Given the description of an element on the screen output the (x, y) to click on. 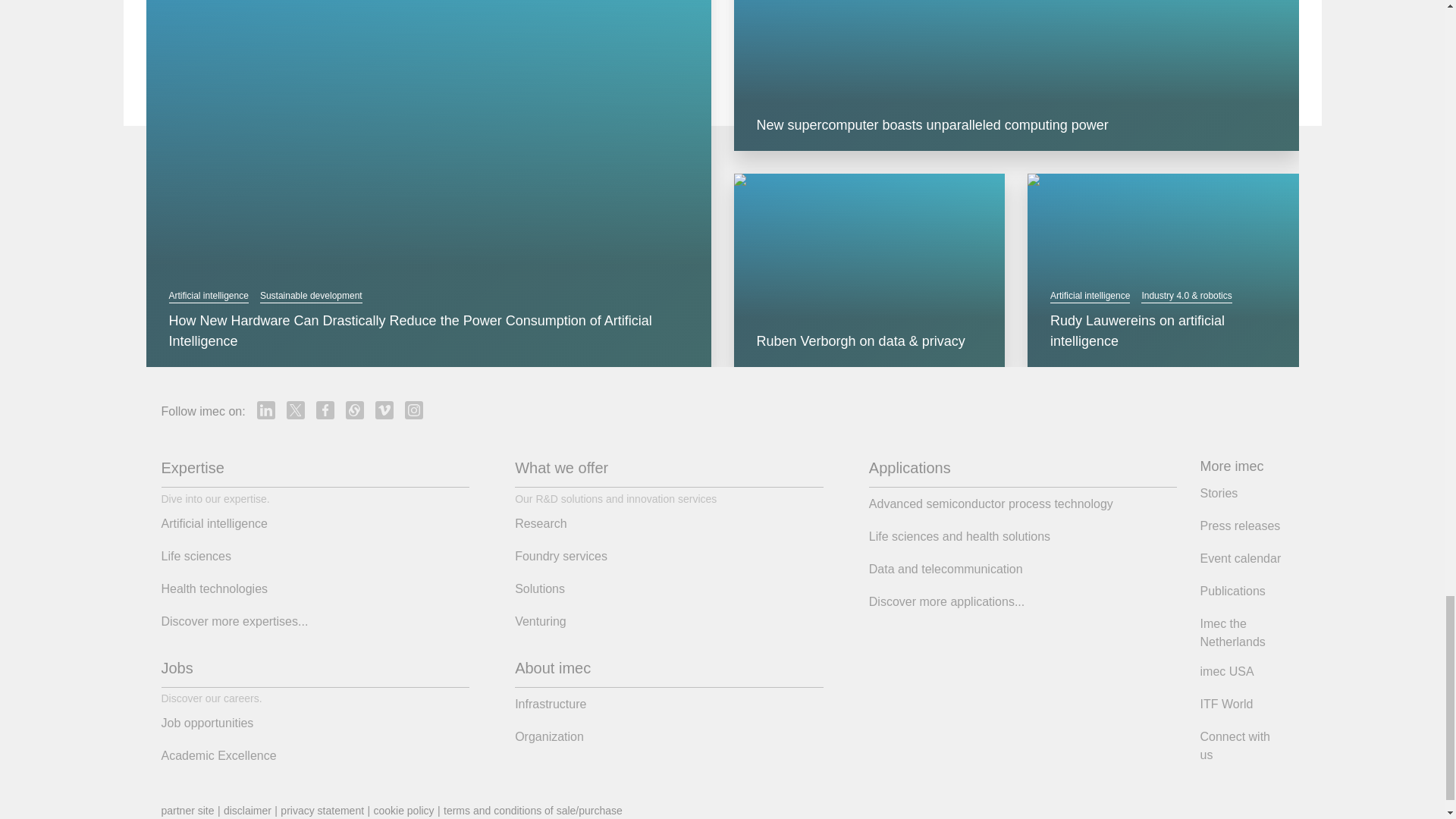
New supercomputer boasts unparalleled computing power (1016, 125)
Artificial intelligence (207, 296)
Swivle (355, 410)
Vimeo (384, 410)
Instagram (413, 410)
Rudy Lauwereins on artificial intelligence (1162, 331)
LinkedIn (266, 410)
Artificial intelligence (1089, 296)
Facebook (324, 410)
X (295, 410)
Sustainable development (311, 296)
